Given the description of an element on the screen output the (x, y) to click on. 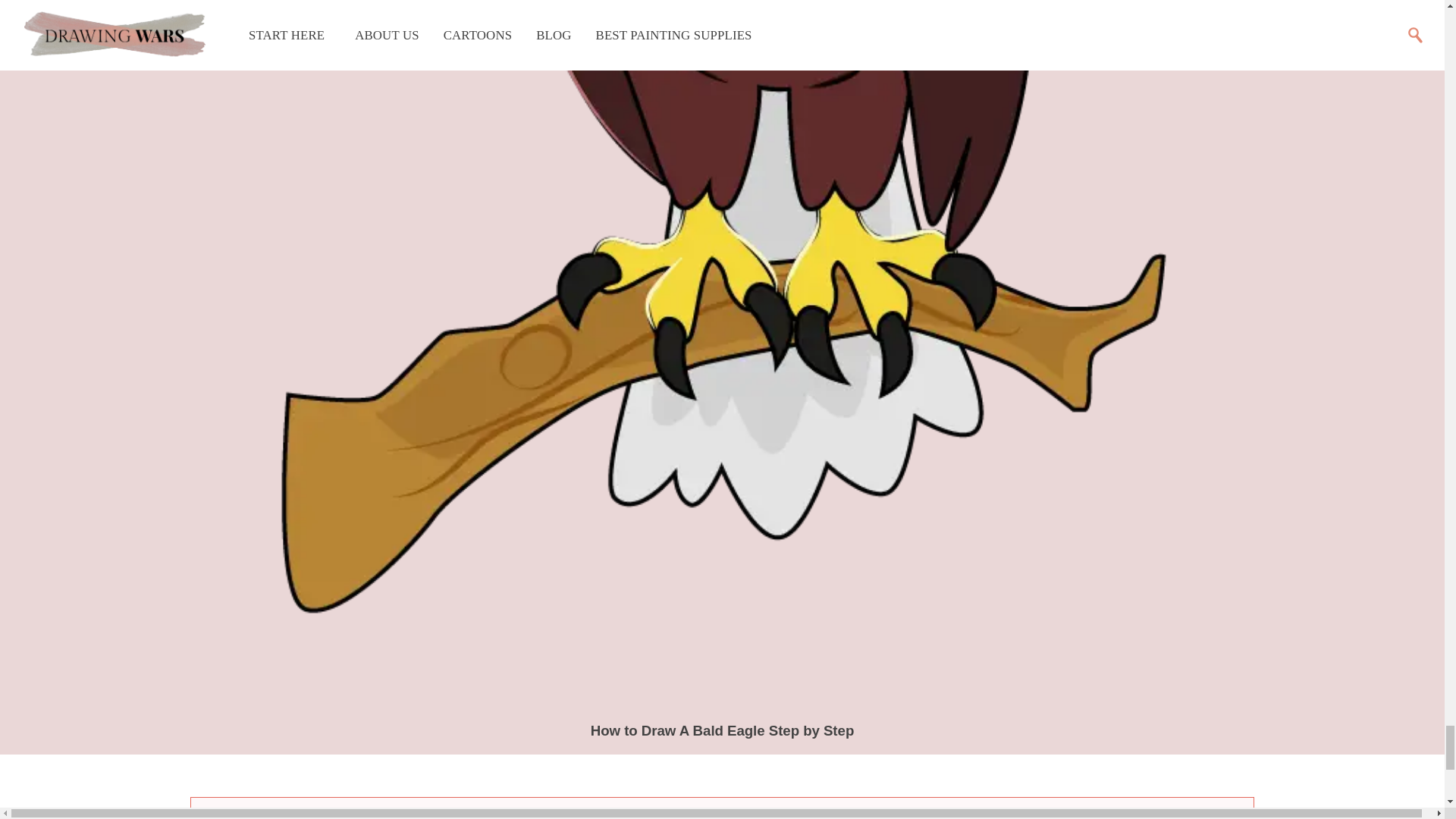
How to Draw A Bald Eagle Step by Step (722, 730)
